Given the description of an element on the screen output the (x, y) to click on. 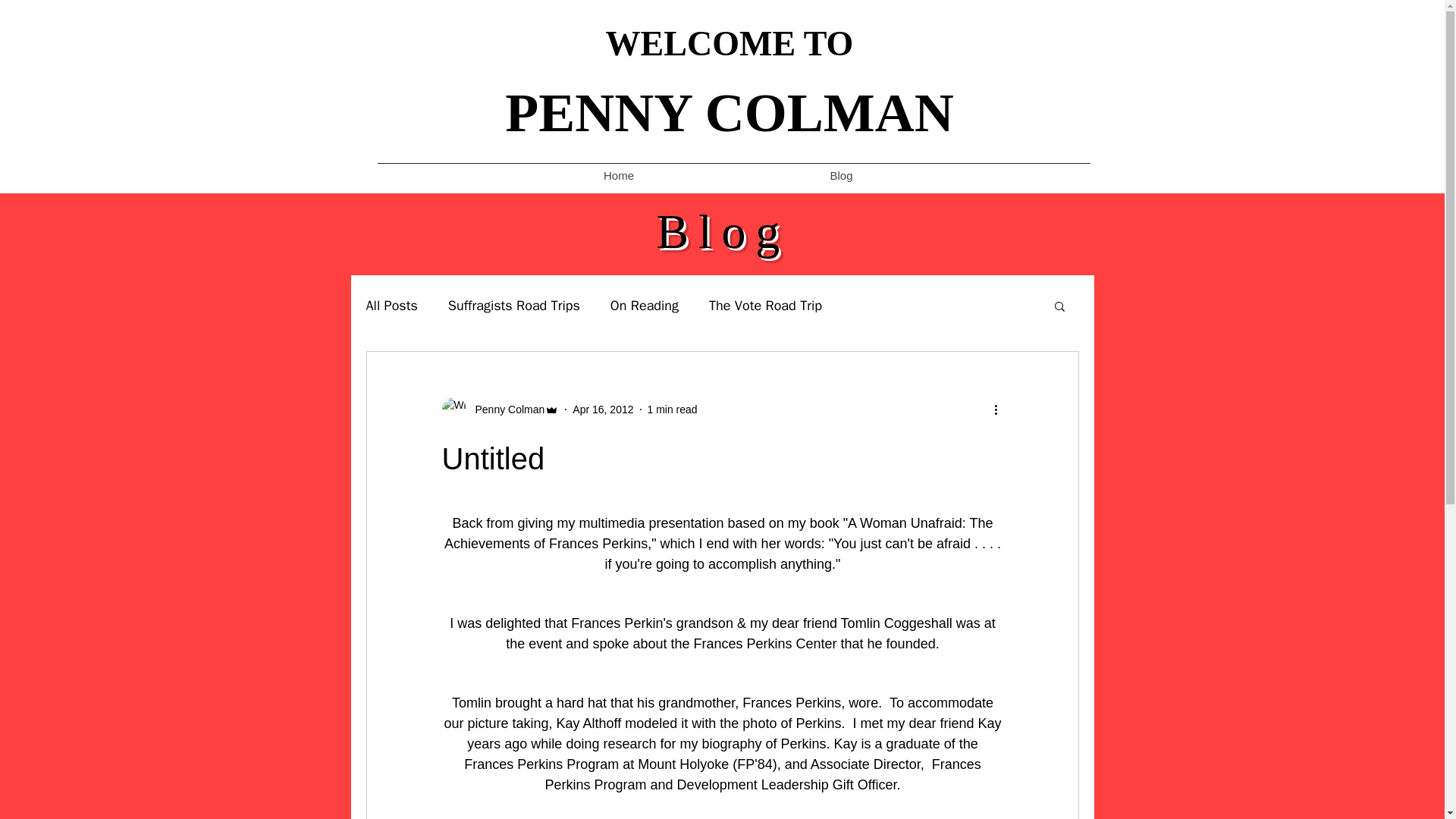
Penny Colman (500, 409)
Penny Colman (504, 409)
All Posts (390, 305)
Suffragists Road Trips (513, 305)
1 min read (672, 409)
Home (619, 175)
Apr 16, 2012 (602, 409)
On Reading (644, 305)
The Vote Road Trip (765, 305)
Blog (840, 175)
